Given the description of an element on the screen output the (x, y) to click on. 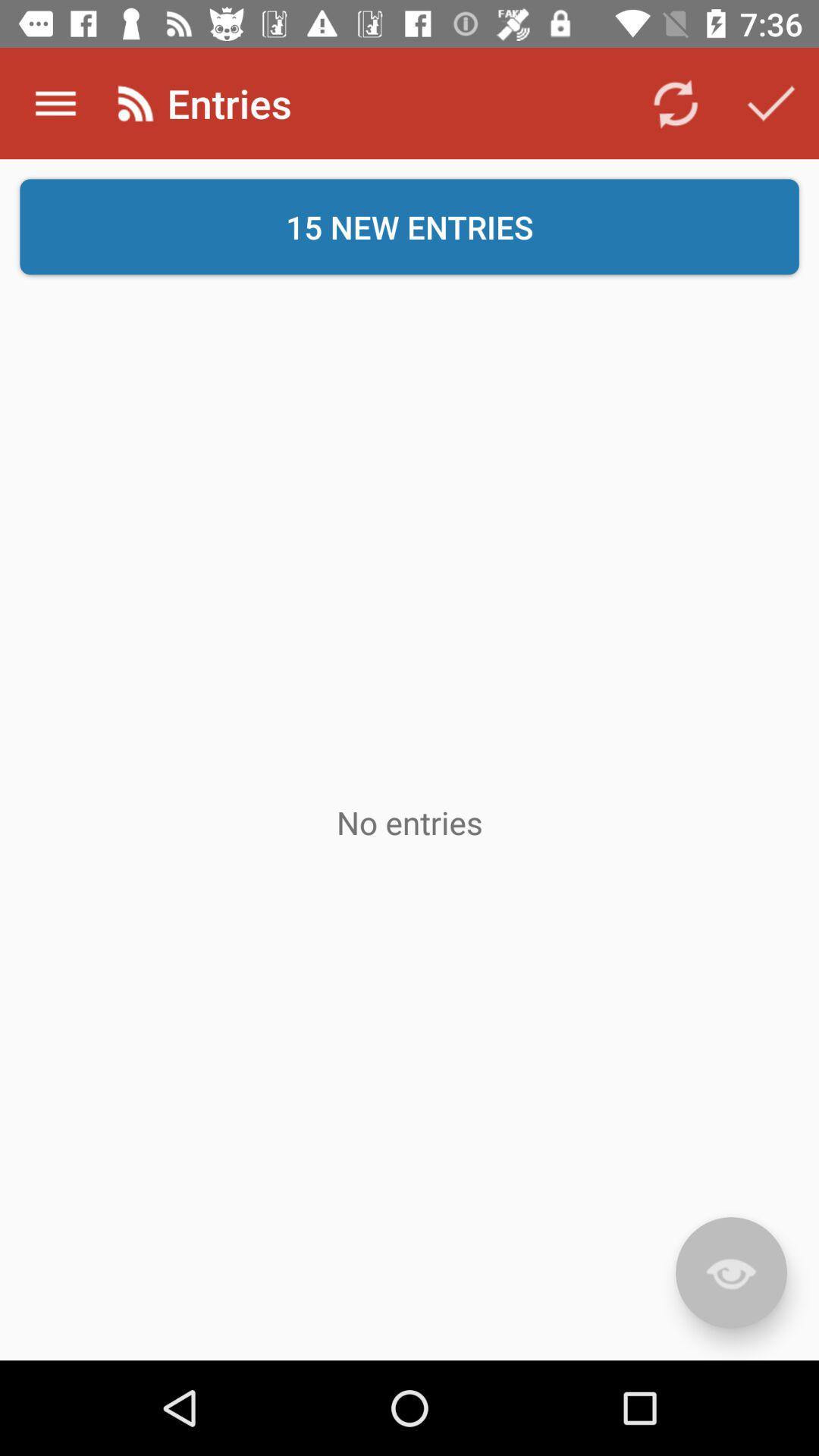
click button above 15 new entries button (675, 103)
